Given the description of an element on the screen output the (x, y) to click on. 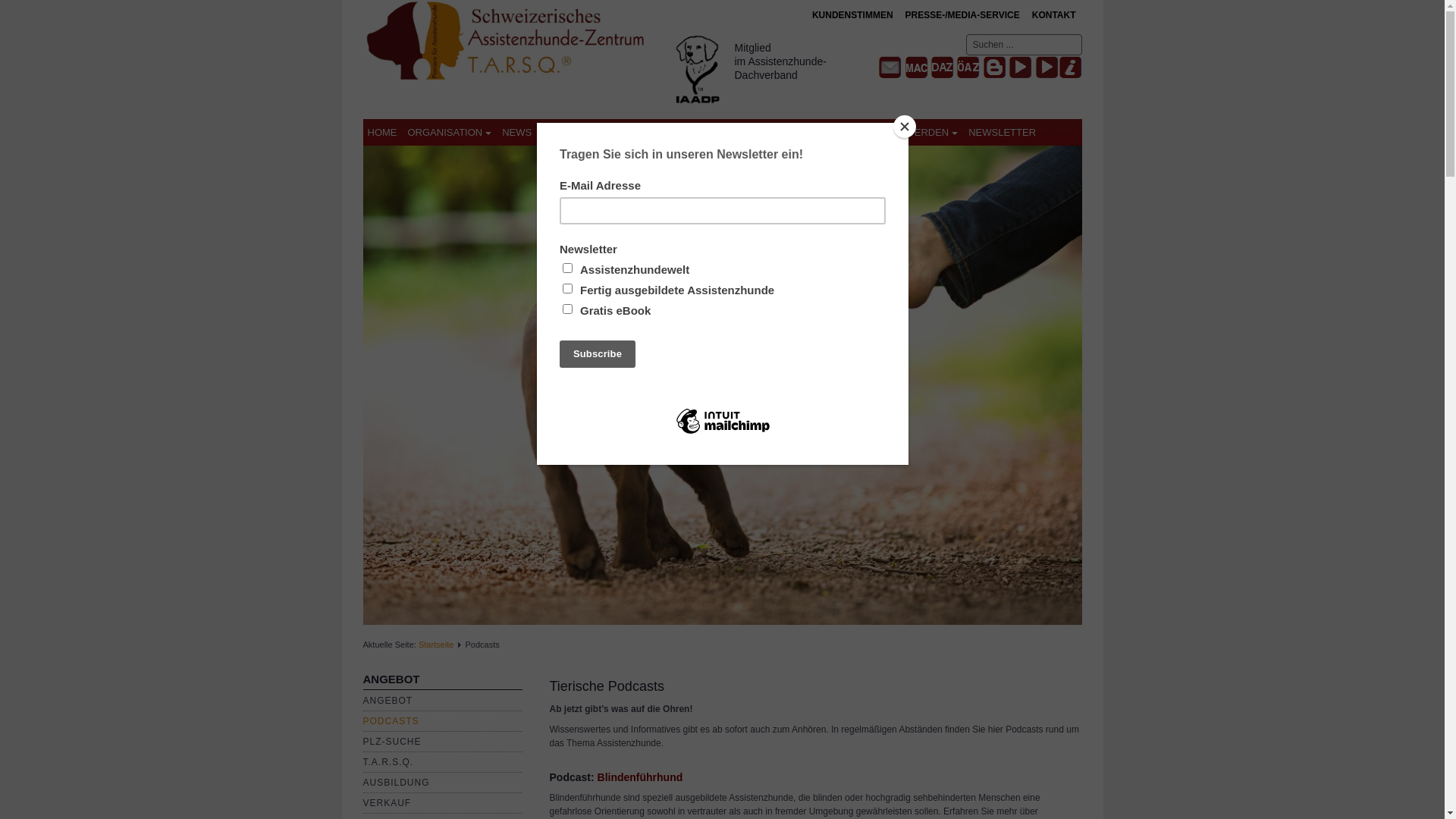
AUSBILDUNG Element type: text (395, 782)
KONTAKT Element type: text (1054, 15)
TRAINER WERDEN Element type: text (908, 132)
T.A.R.S.Q. Element type: text (387, 761)
PODCASTS Element type: text (390, 720)
PRESSE Element type: text (824, 132)
NEWSLETTER Element type: text (1002, 132)
INTERAKTIVES Element type: text (748, 132)
ORGANISATION Element type: text (450, 132)
Startseite Element type: text (435, 644)
PLZ-SUCHE Element type: text (391, 741)
HOME Element type: text (382, 132)
VERKAUF Element type: text (386, 802)
ASSISTENZHUNDE Element type: text (593, 132)
NEWS Element type: text (517, 132)
PRESSE-/MEDIA-SERVICE Element type: text (962, 15)
KUNDENSTIMMEN Element type: text (852, 15)
ANGEBOT Element type: text (387, 700)
KURSE Element type: text (676, 132)
